Given the description of an element on the screen output the (x, y) to click on. 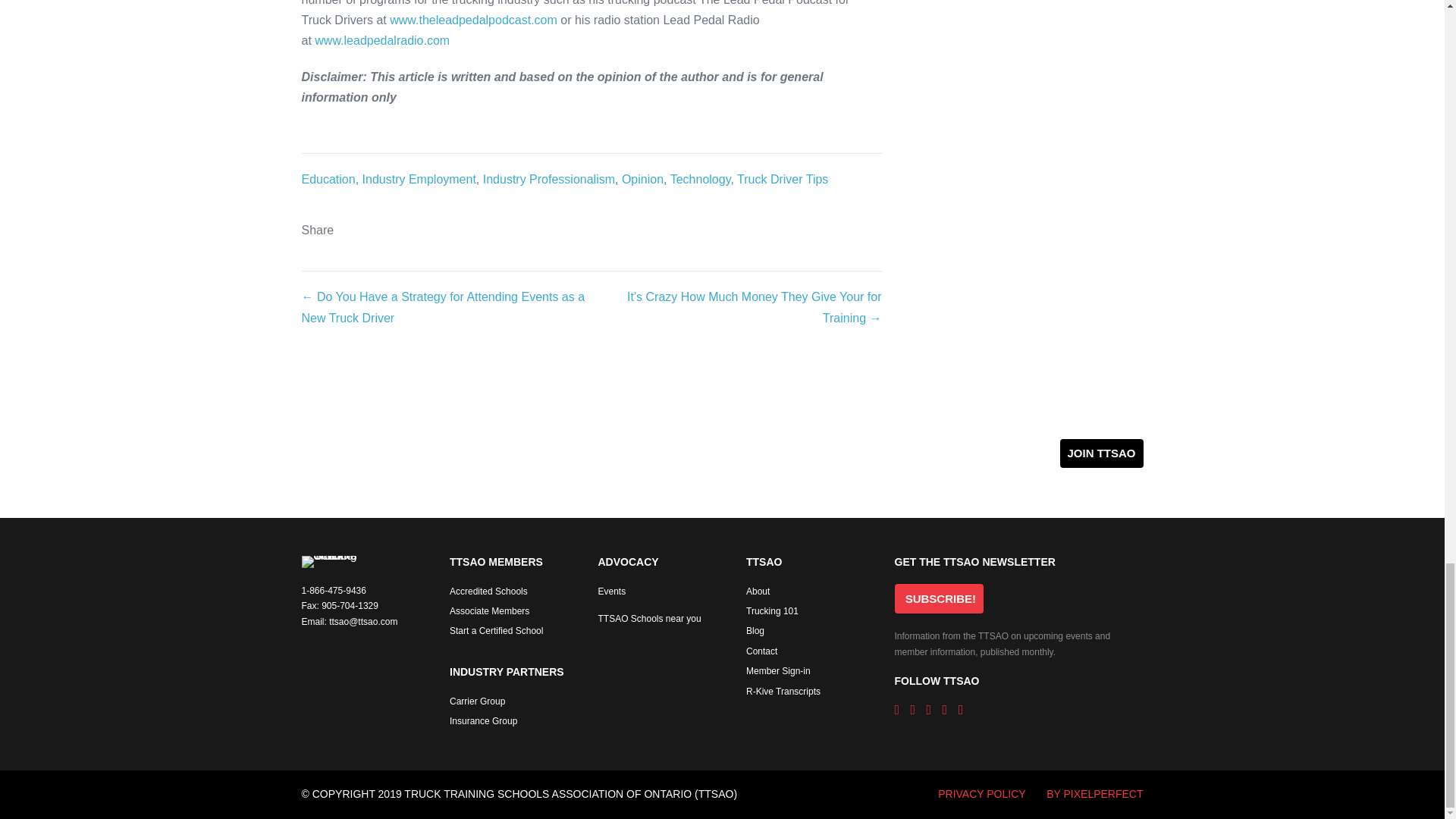
Opinion (642, 178)
Education (328, 178)
TTSAO Logo (329, 562)
Industry Professionalism (548, 178)
www.leadpedalradio.com (381, 40)
Truck Driver Tips (782, 178)
Industry Employment (419, 178)
www.theleadpedalpodcast.com (473, 19)
Technology (699, 178)
